Given the description of an element on the screen output the (x, y) to click on. 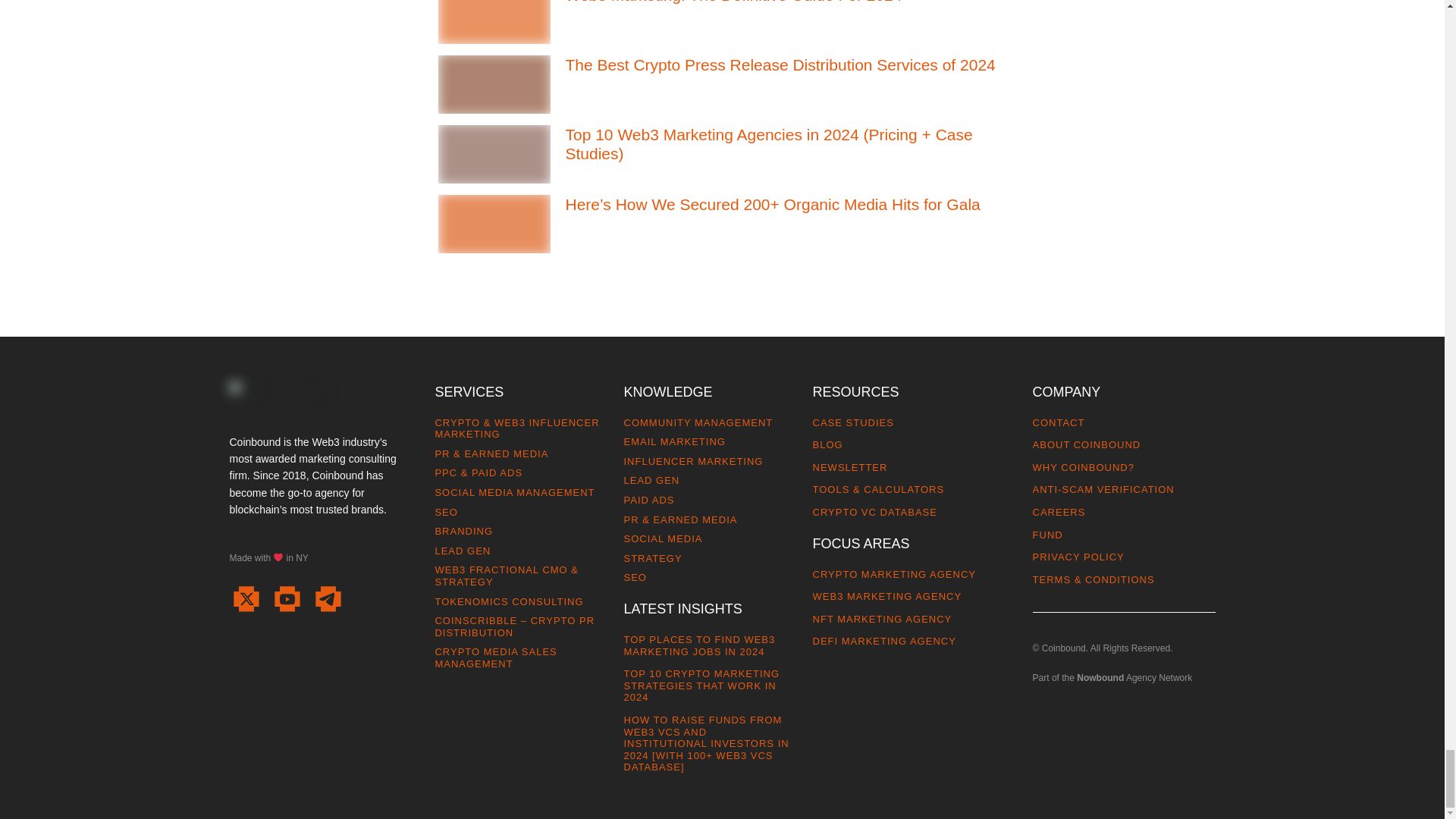
Coinbound Logo OW (287, 400)
